Given the description of an element on the screen output the (x, y) to click on. 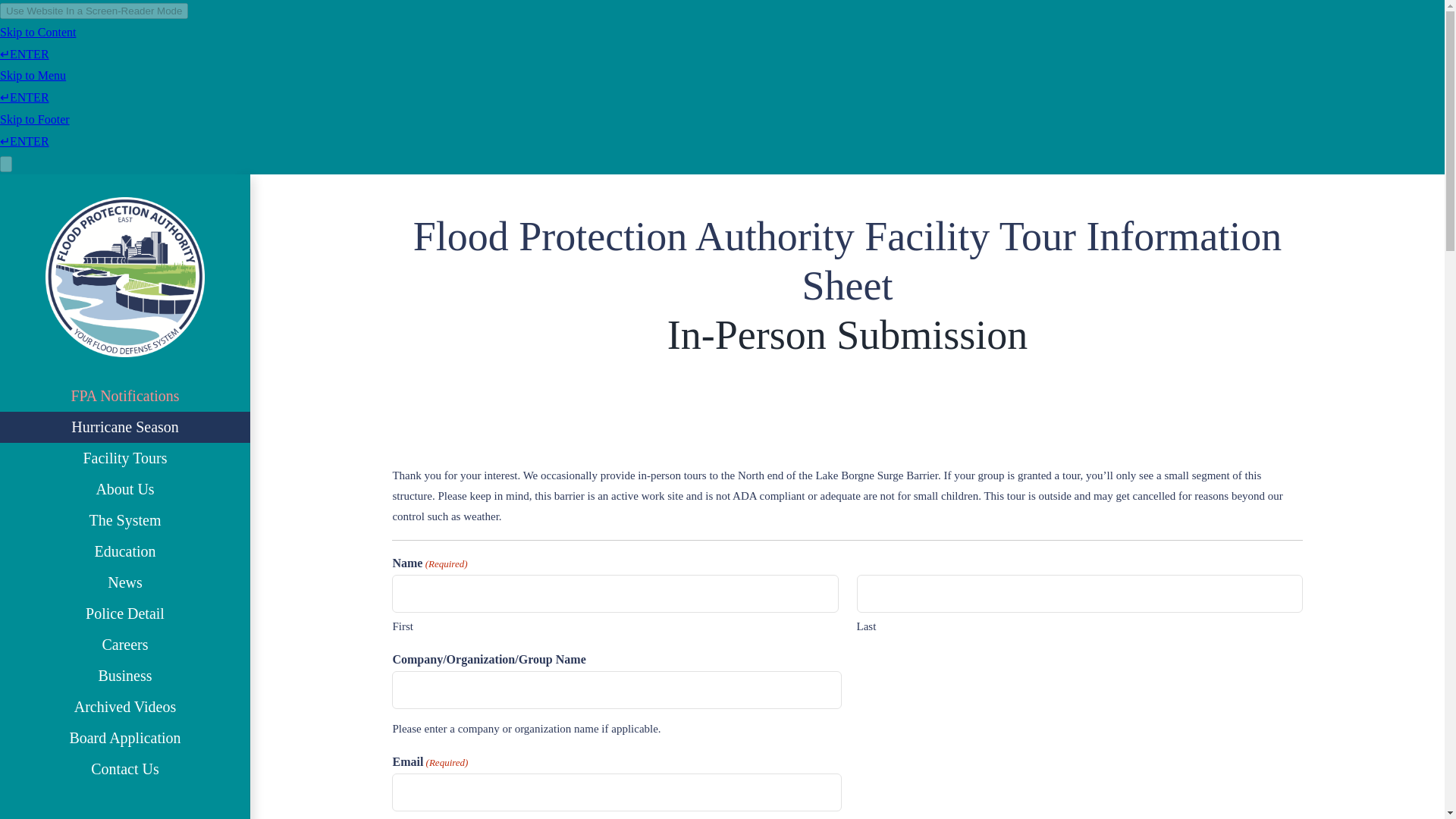
The System (125, 520)
Careers (125, 644)
Education (125, 551)
FPA Notifications (125, 395)
Facility Tours (125, 458)
Police Detail (125, 613)
News (125, 582)
Business (125, 675)
Hurricane Season (125, 427)
About Us (125, 489)
